Given the description of an element on the screen output the (x, y) to click on. 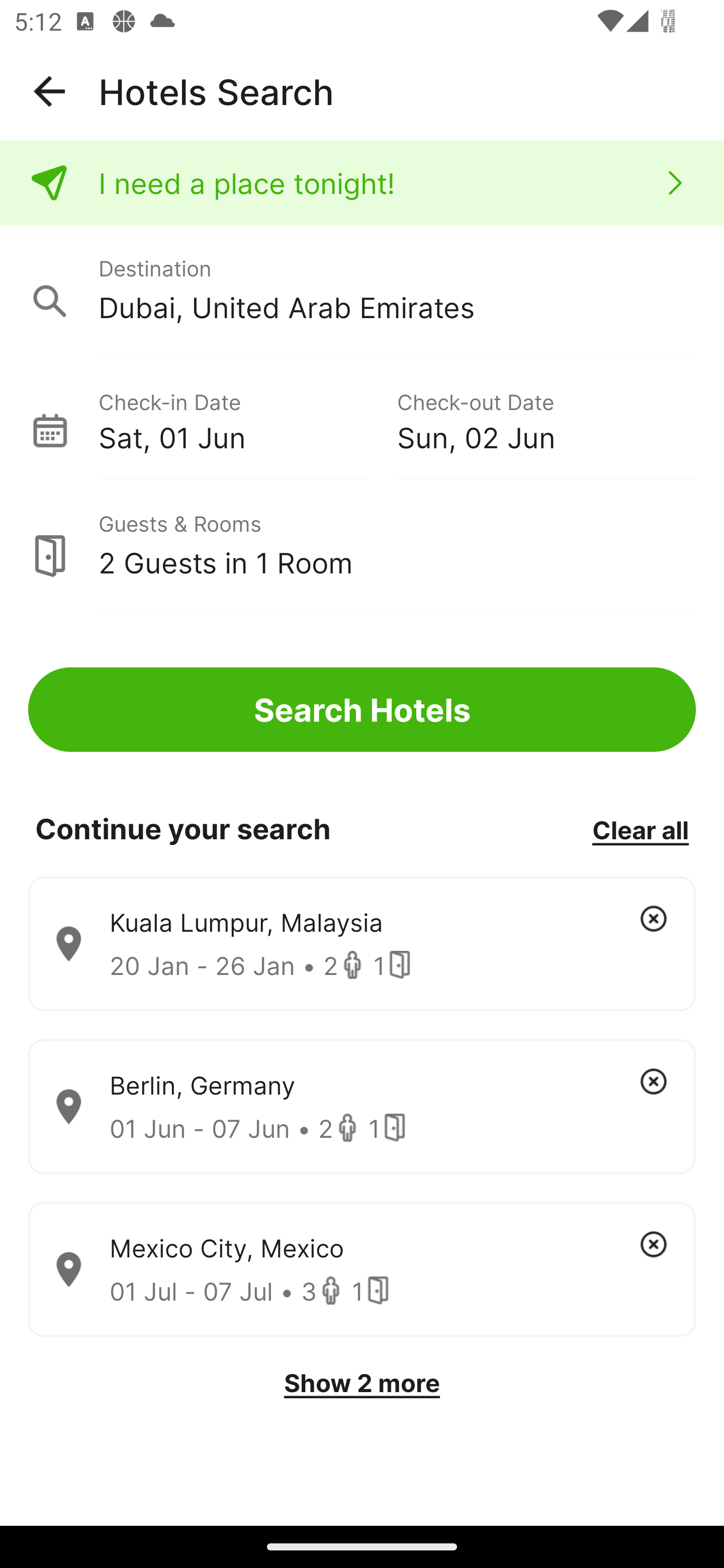
I need a place tonight! (362, 183)
Destination Dubai, United Arab Emirates (362, 290)
Check-in Date Sat, 01 Jun (247, 418)
Check-out Date Sun, 02 Jun (546, 418)
Guests & Rooms 2 Guests in 1 Room (362, 545)
Search Hotels (361, 709)
Clear all (640, 829)
Kuala Lumpur, Malaysia 20 Jan - 26 Jan • 2  1  (361, 943)
Berlin, Germany 01 Jun - 07 Jun • 2  1  (361, 1106)
Mexico City, Mexico 01 Jul - 07 Jul • 3  1  (361, 1269)
Show 2 more (362, 1382)
